Given the description of an element on the screen output the (x, y) to click on. 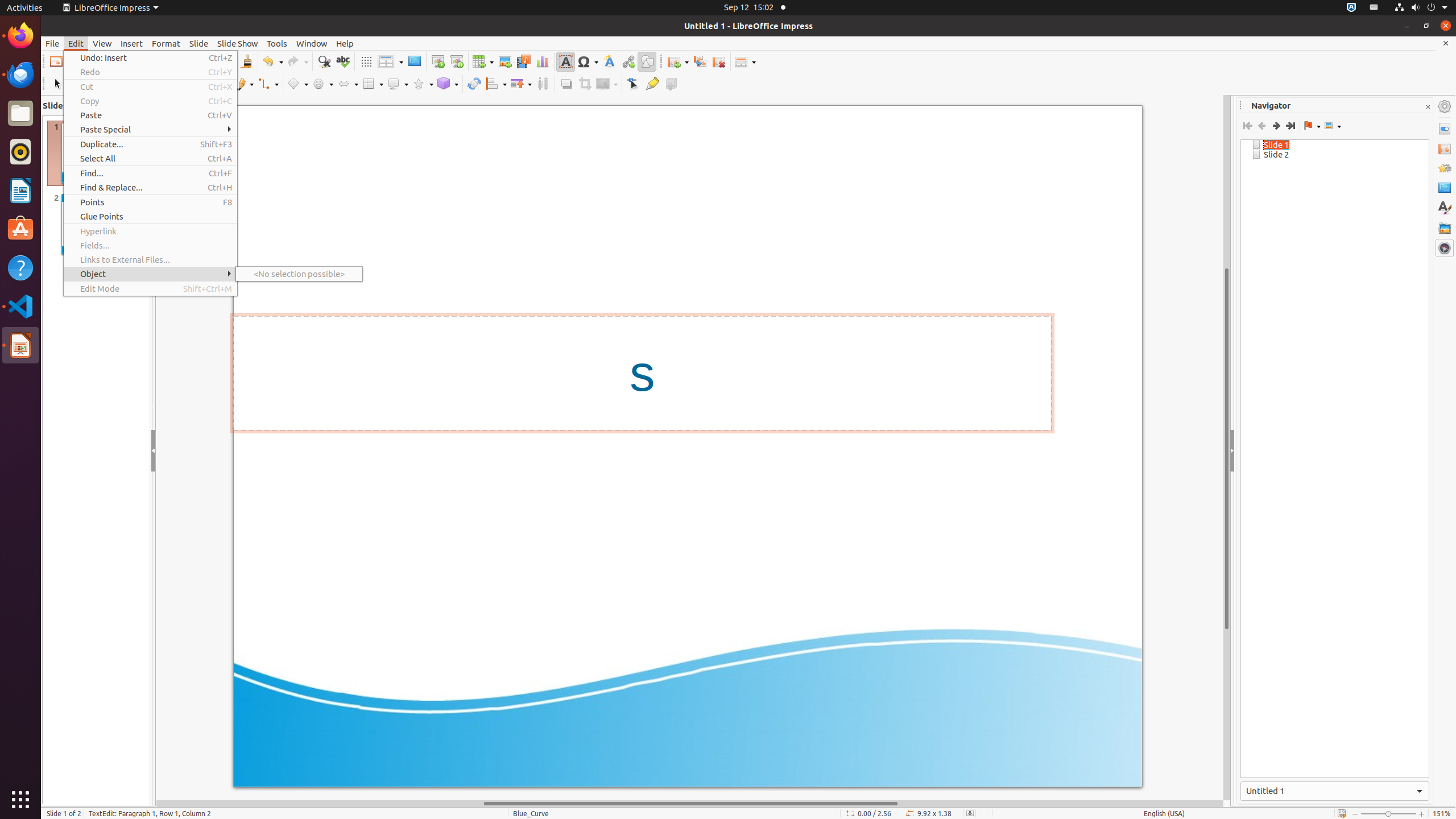
Navigator Element type: radio-button (1444, 247)
Gallery Element type: radio-button (1444, 227)
Styles Element type: radio-button (1444, 208)
Object Element type: menu (150, 273)
Last Slide Element type: push-button (1290, 125)
